Given the description of an element on the screen output the (x, y) to click on. 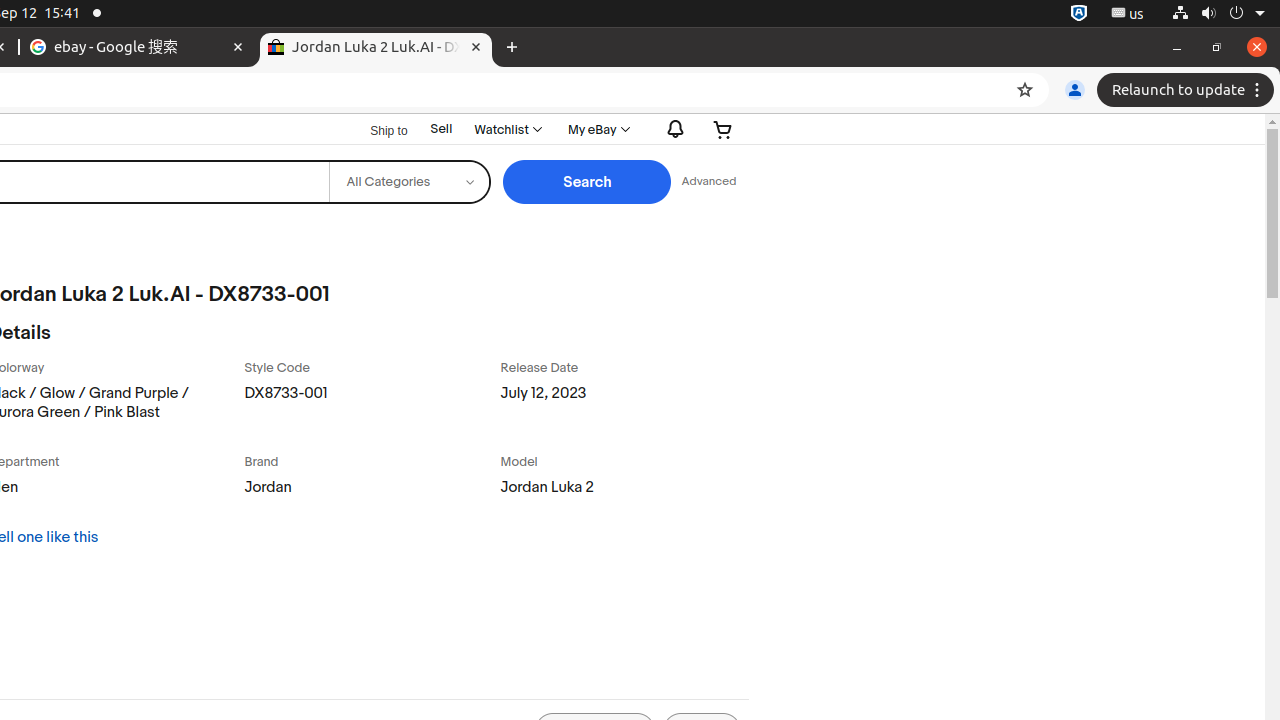
Your shopping cart Element type: link (723, 129)
:1.72/StatusNotifierItem Element type: menu (1079, 13)
Watchlist Element type: link (507, 129)
My eBay Element type: link (597, 129)
Notifications Element type: push-button (670, 129)
